Given the description of an element on the screen output the (x, y) to click on. 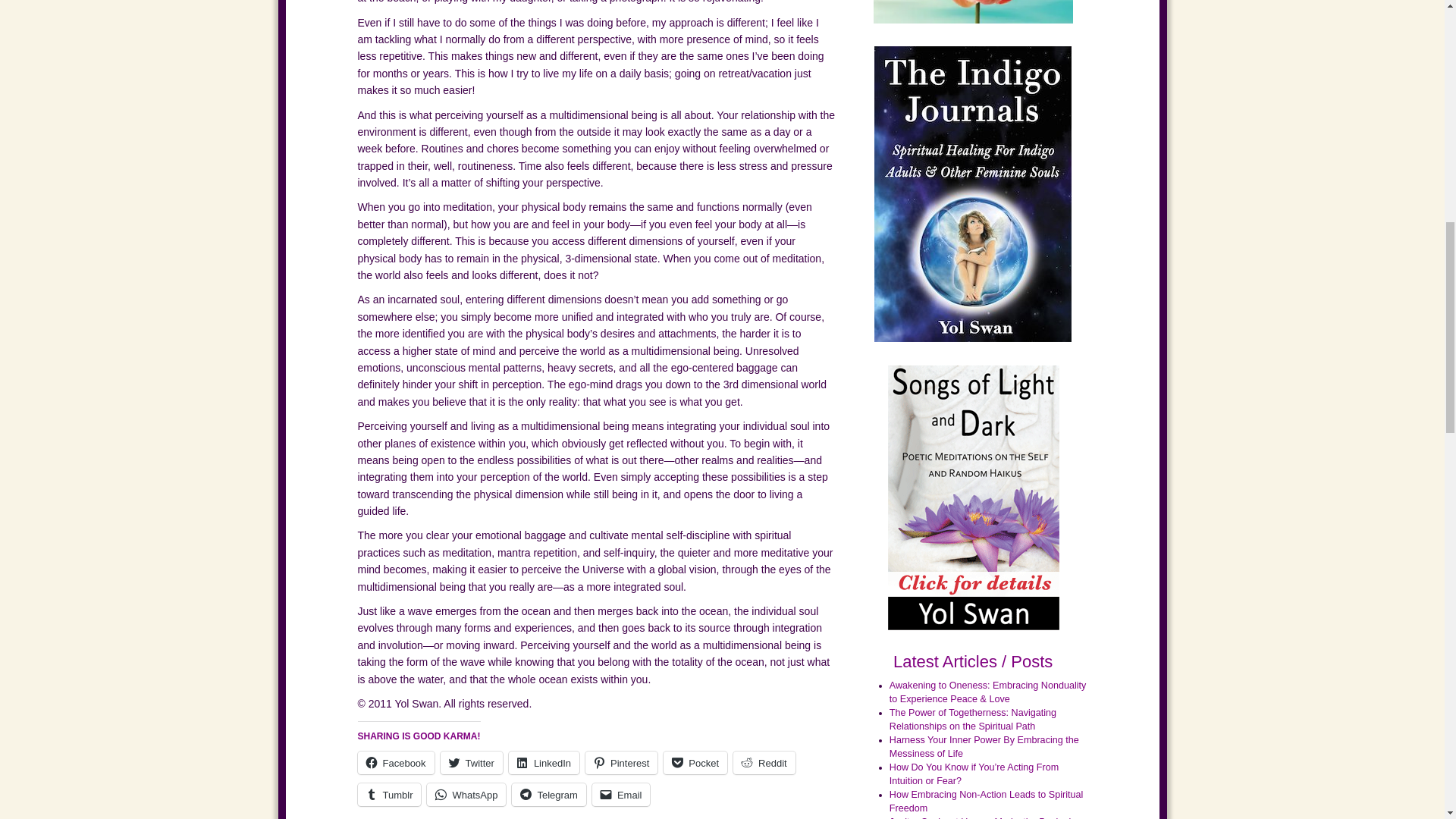
Pocket (694, 762)
Facebook (395, 762)
Twitter (471, 762)
Telegram (548, 793)
WhatsApp (465, 793)
Reddit (763, 762)
Email (621, 793)
Tumblr (390, 793)
Pinterest (621, 762)
LinkedIn (543, 762)
